Given the description of an element on the screen output the (x, y) to click on. 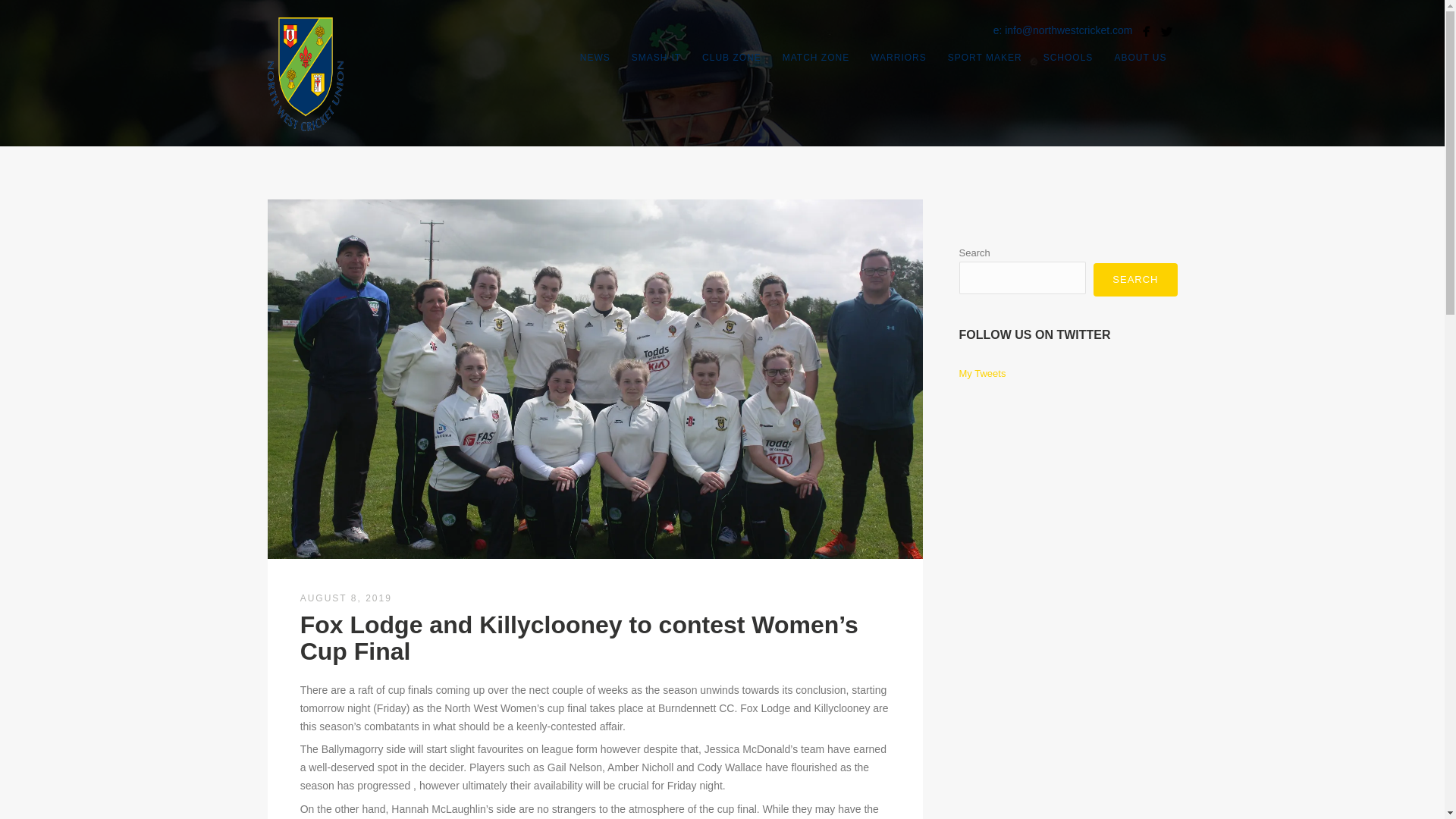
Facebook (1144, 31)
CLUB ZONE (731, 57)
SMASH-IT (656, 57)
Twitter (1166, 31)
NEWS (595, 57)
